Given the description of an element on the screen output the (x, y) to click on. 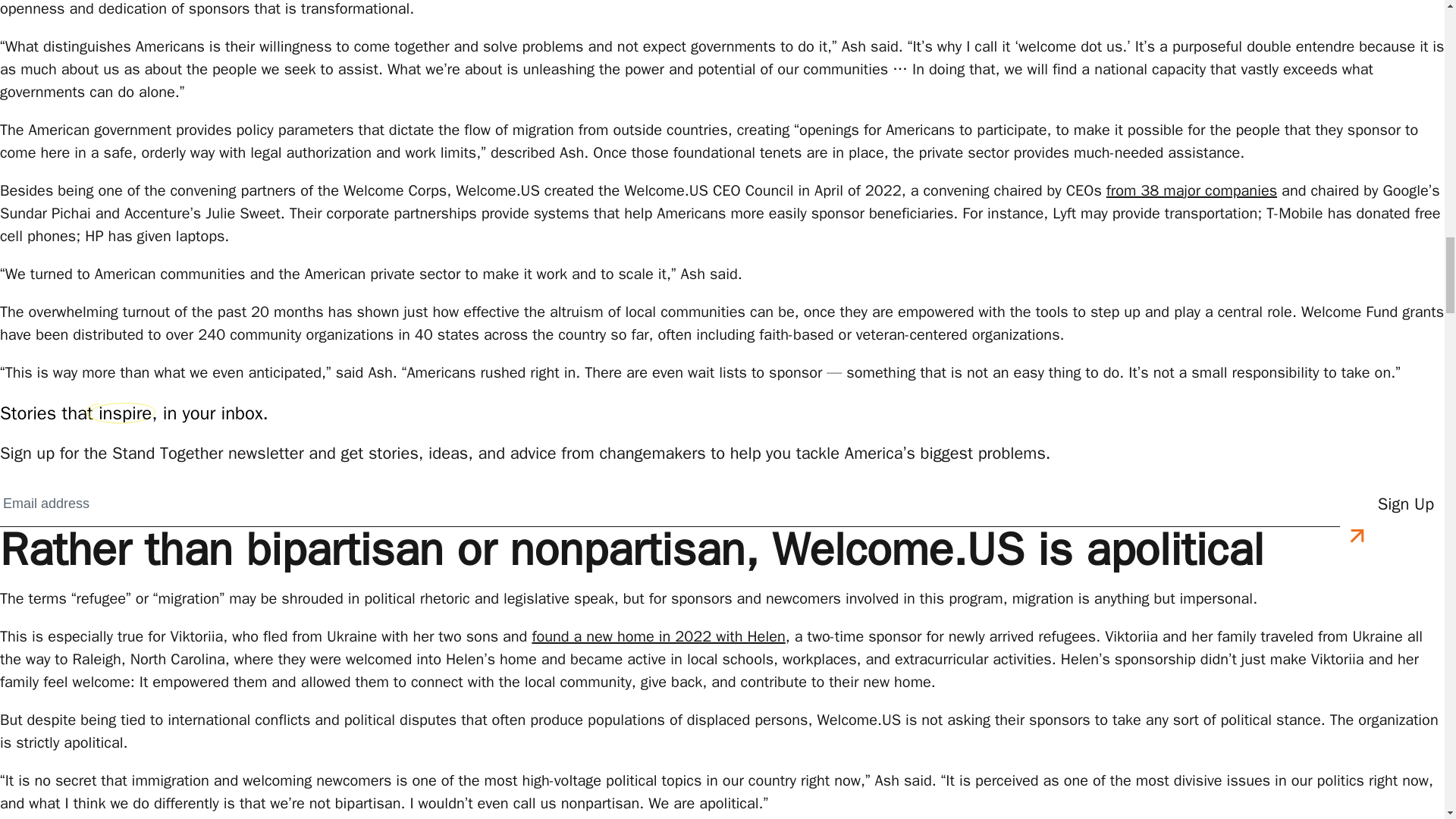
from 38 major companies (1191, 189)
found a new home in 2022 with Helen (657, 636)
